Given the description of an element on the screen output the (x, y) to click on. 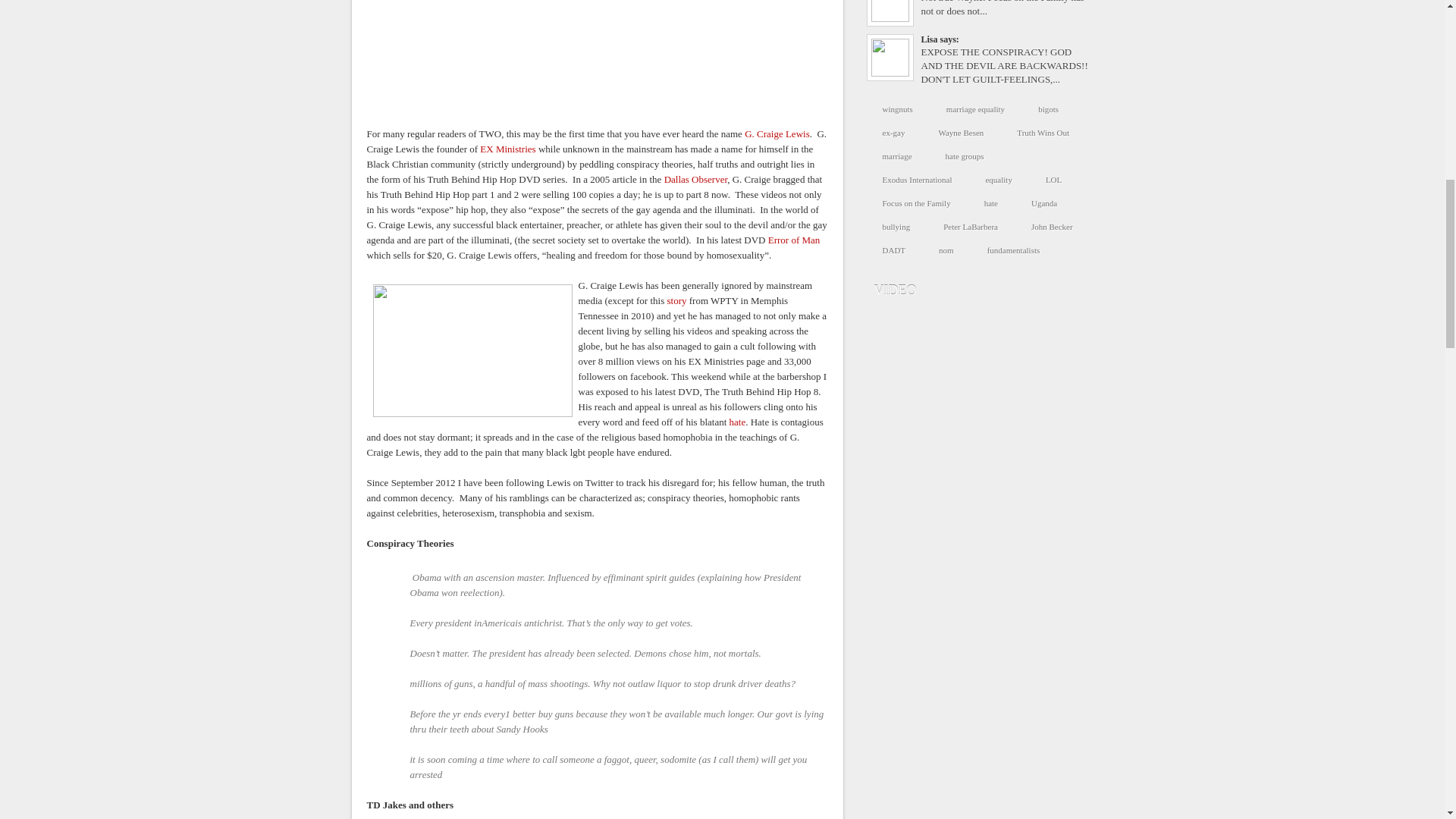
YouTube video player (594, 54)
EX Ministries (509, 148)
hate (737, 421)
Dallas Observer (695, 179)
G. Craige Lewis (776, 133)
story (675, 300)
Error of Man (794, 239)
